Given the description of an element on the screen output the (x, y) to click on. 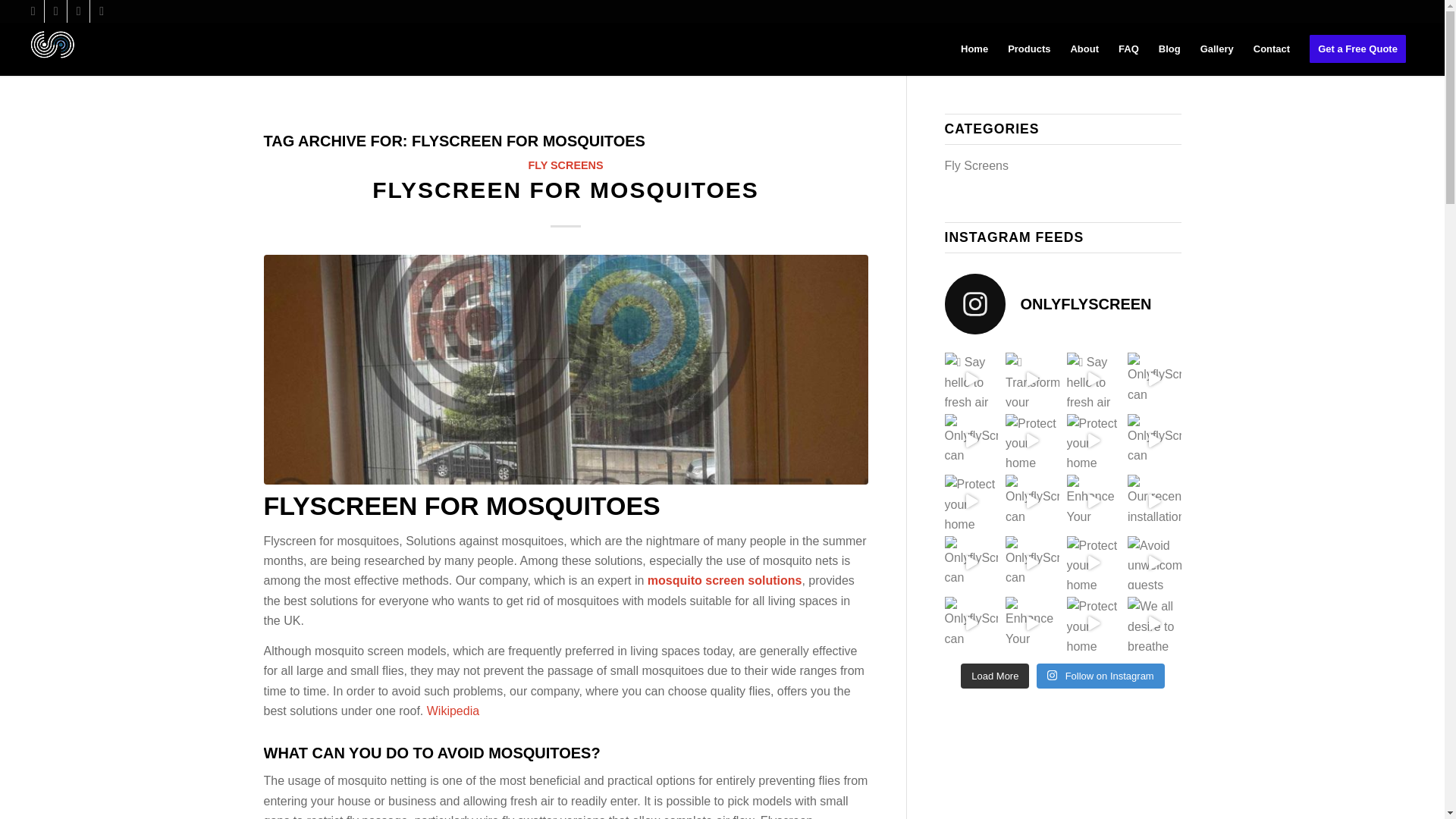
Youtube (32, 11)
favicon (53, 46)
FLY SCREENS (564, 164)
Mail (77, 11)
About (1083, 49)
favicon (53, 49)
Wikipedia (452, 710)
LinkedIn (101, 11)
FLYSCREEN FOR MOSQUITOES (565, 189)
Instagram (55, 11)
Contact (1271, 49)
Permanent Link: Flyscreen for mosquitoes (565, 189)
Fly Screens (976, 164)
ONLYFLYSCREEN (1062, 303)
